Given the description of an element on the screen output the (x, y) to click on. 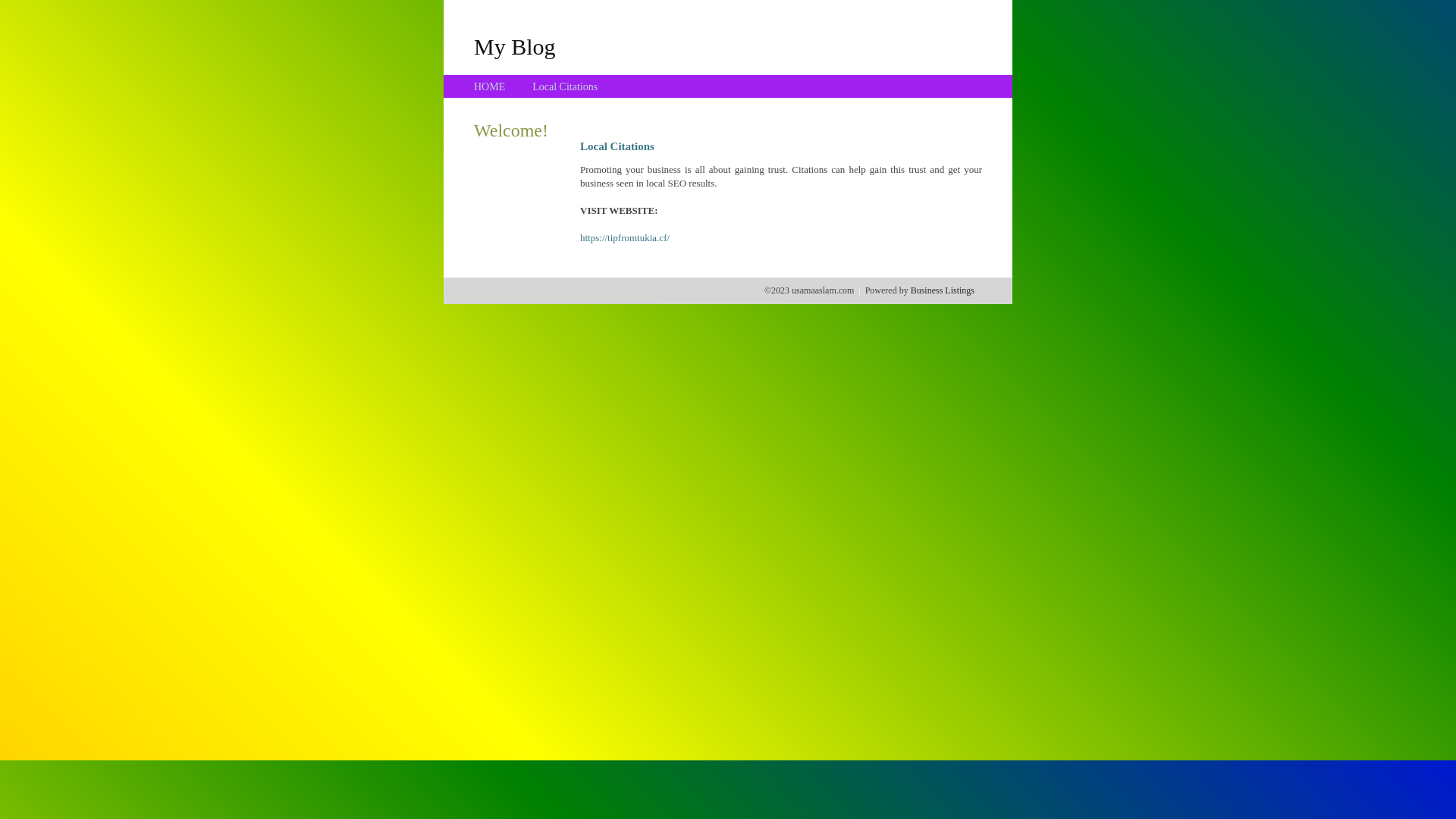
Business Listings Element type: text (942, 290)
HOME Element type: text (489, 86)
My Blog Element type: text (514, 46)
https://tipfromtukia.cf/ Element type: text (624, 237)
Local Citations Element type: text (564, 86)
